Given the description of an element on the screen output the (x, y) to click on. 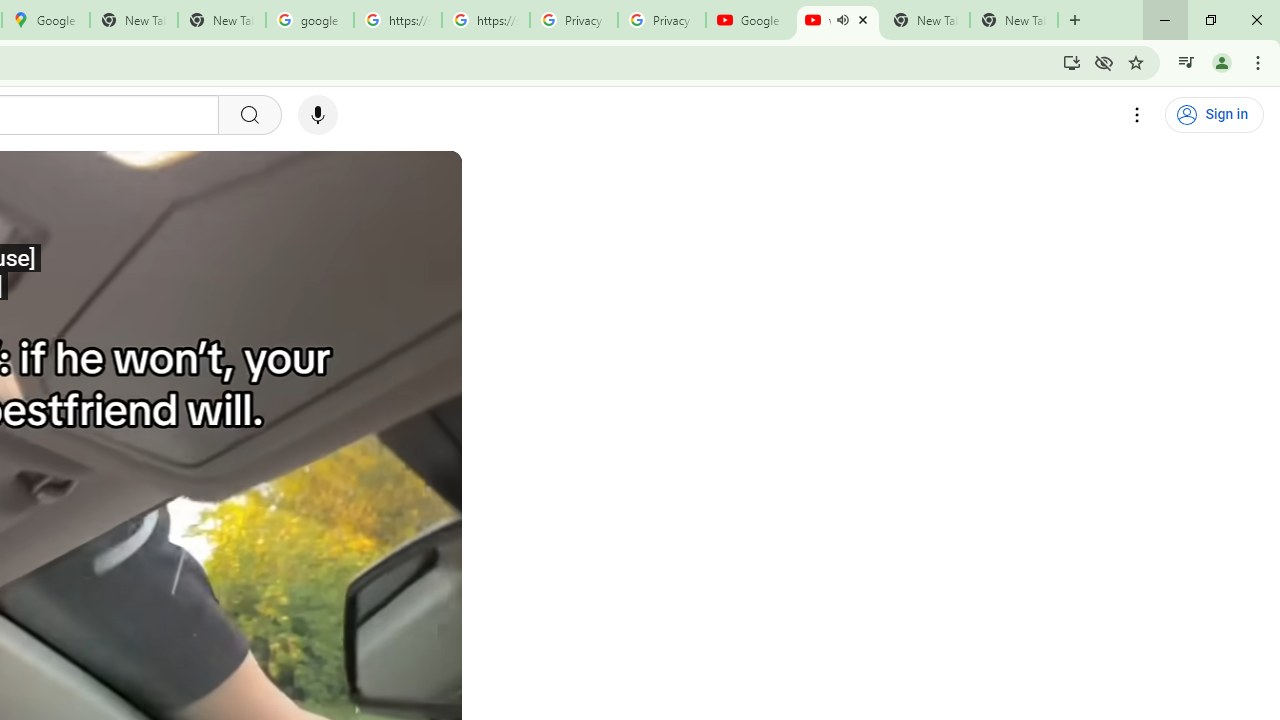
Search with your voice (317, 115)
New Tab (1014, 20)
Google - YouTube (749, 20)
